Given the description of an element on the screen output the (x, y) to click on. 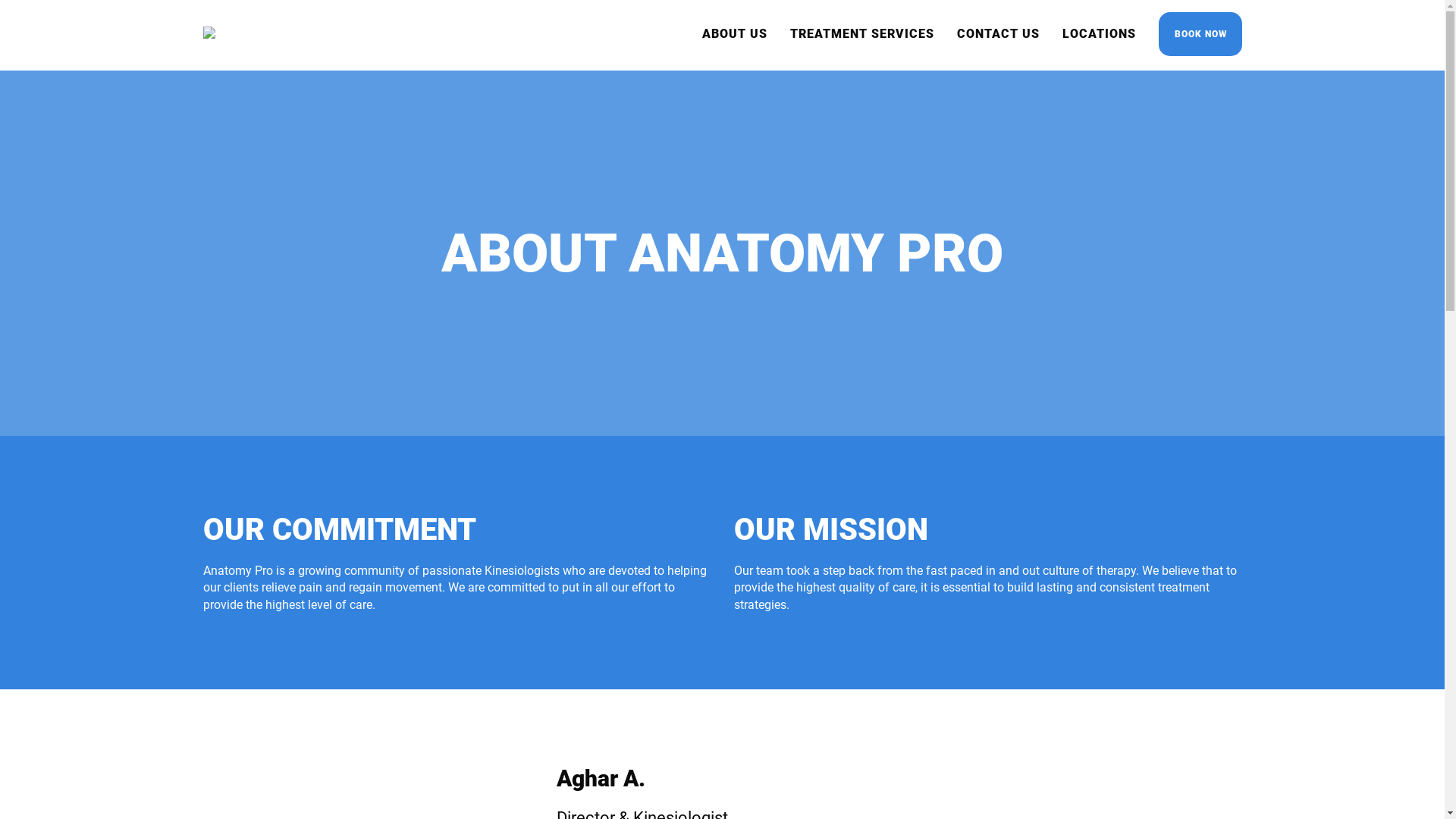
ABOUT US Element type: text (734, 33)
CONTACT US Element type: text (998, 33)
BOOK NOW Element type: text (1200, 34)
LOCATIONS Element type: text (1098, 33)
